Given the description of an element on the screen output the (x, y) to click on. 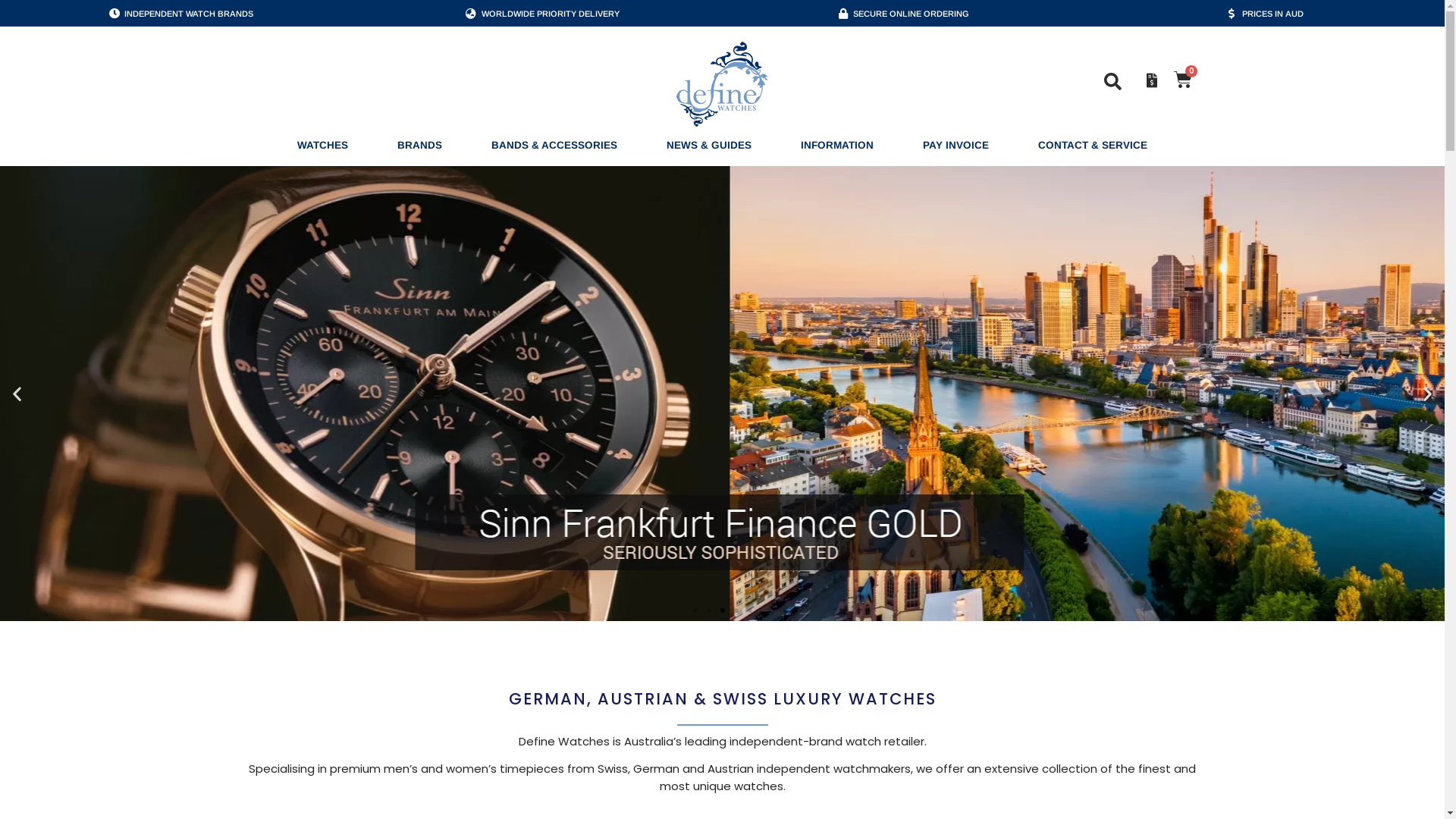
WATCHES Element type: text (322, 145)
Search all watches from our collections Element type: hover (1112, 81)
BRANDS Element type: text (419, 145)
Pay an Invoice Element type: hover (1151, 79)
NEWS & GUIDES Element type: text (708, 145)
PAY INVOICE Element type: text (955, 145)
CONTACT & SERVICE Element type: text (1092, 145)
INFORMATION Element type: text (836, 145)
BANDS & ACCESSORIES Element type: text (554, 145)
